Given the description of an element on the screen output the (x, y) to click on. 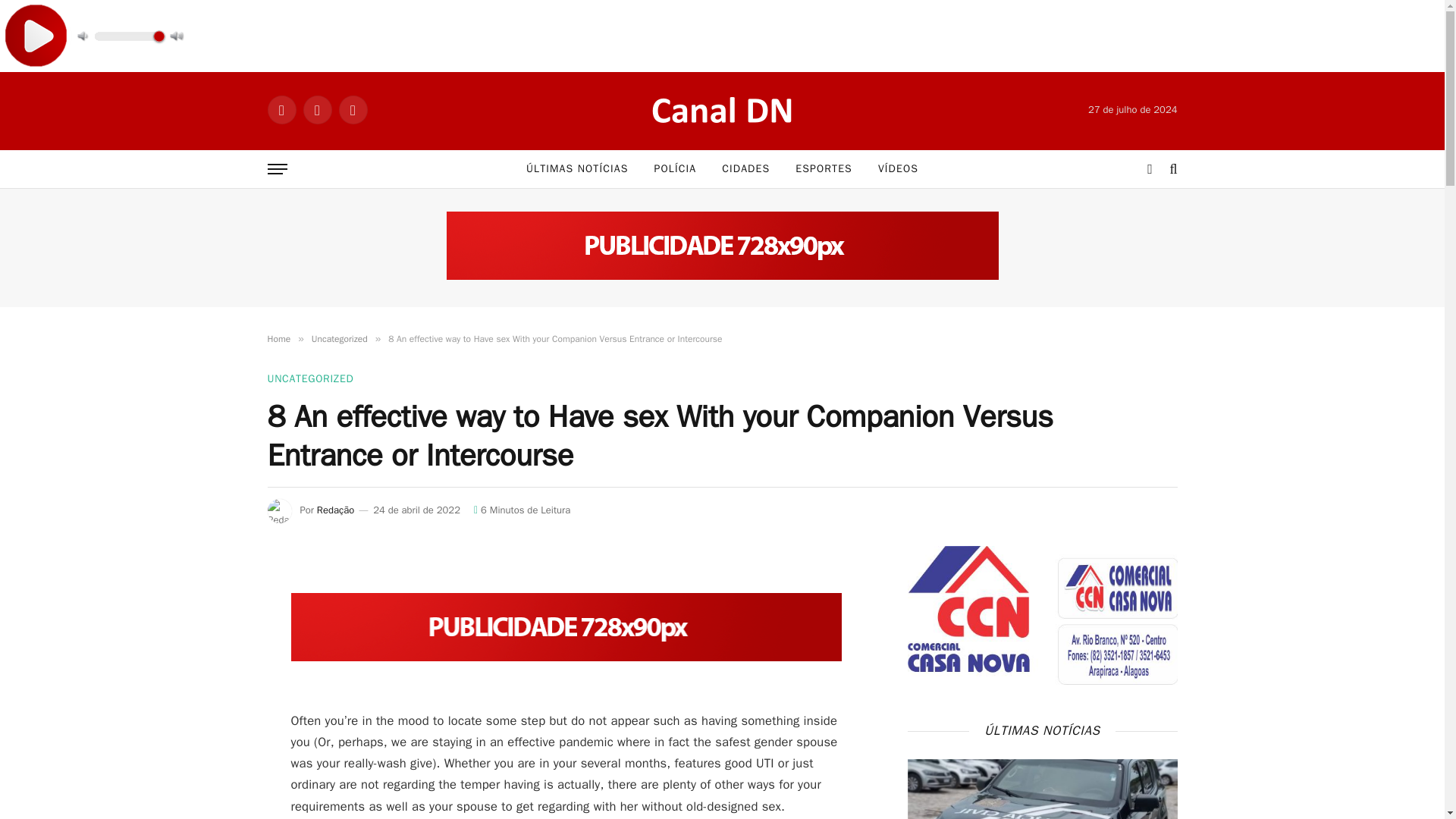
CIDADES (746, 168)
WhatsApp (351, 109)
Instagram (280, 109)
Canal DN (722, 108)
Uncategorized (339, 338)
YouTube (316, 109)
Switch to Dark Design - easier on eyes. (1149, 169)
Home (277, 338)
ESPORTES (823, 168)
UNCATEGORIZED (309, 378)
